Given the description of an element on the screen output the (x, y) to click on. 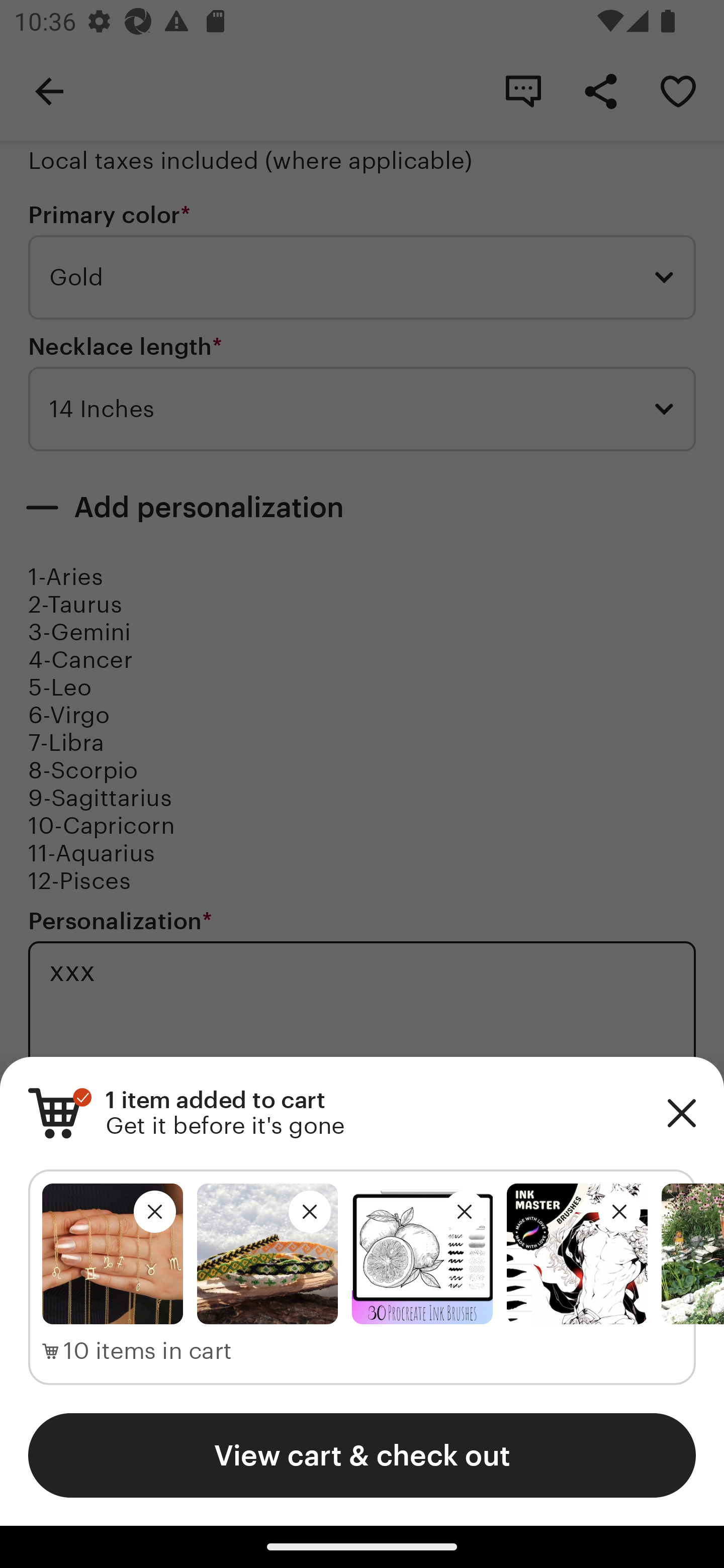
10 items in cart (137, 1351)
View cart & check out (361, 1454)
